Given the description of an element on the screen output the (x, y) to click on. 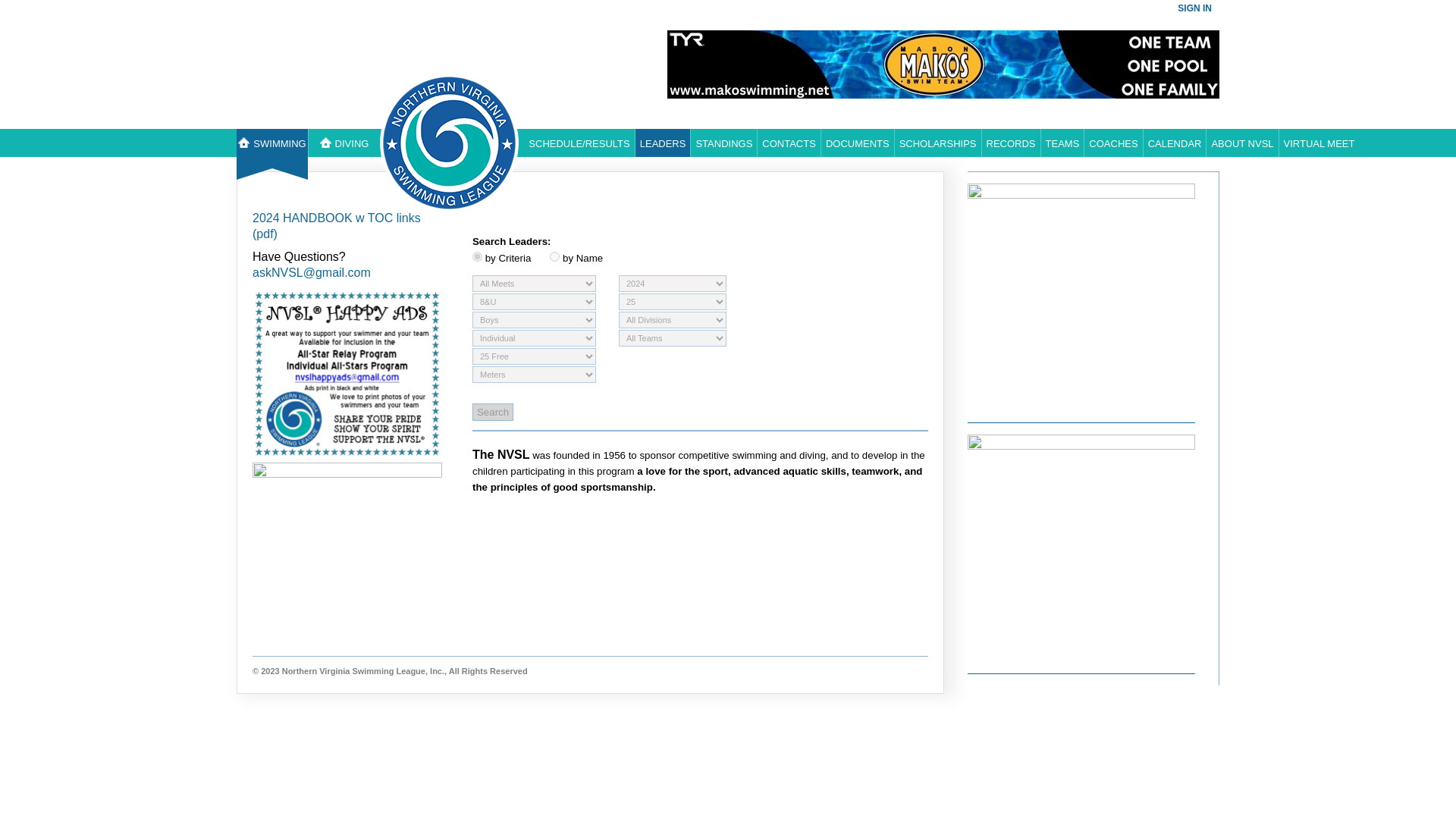
Click to visit Records page (1011, 142)
Click to visit Calendar page (1174, 142)
SCHOLARSHIPS (938, 142)
Click to visit Scholarships page (938, 142)
Search (492, 411)
COACHES (1112, 142)
SIGN IN (1195, 8)
Click for Swim Home page (271, 142)
Click to visit Contacts page (789, 142)
LEADERS (662, 142)
